Given the description of an element on the screen output the (x, y) to click on. 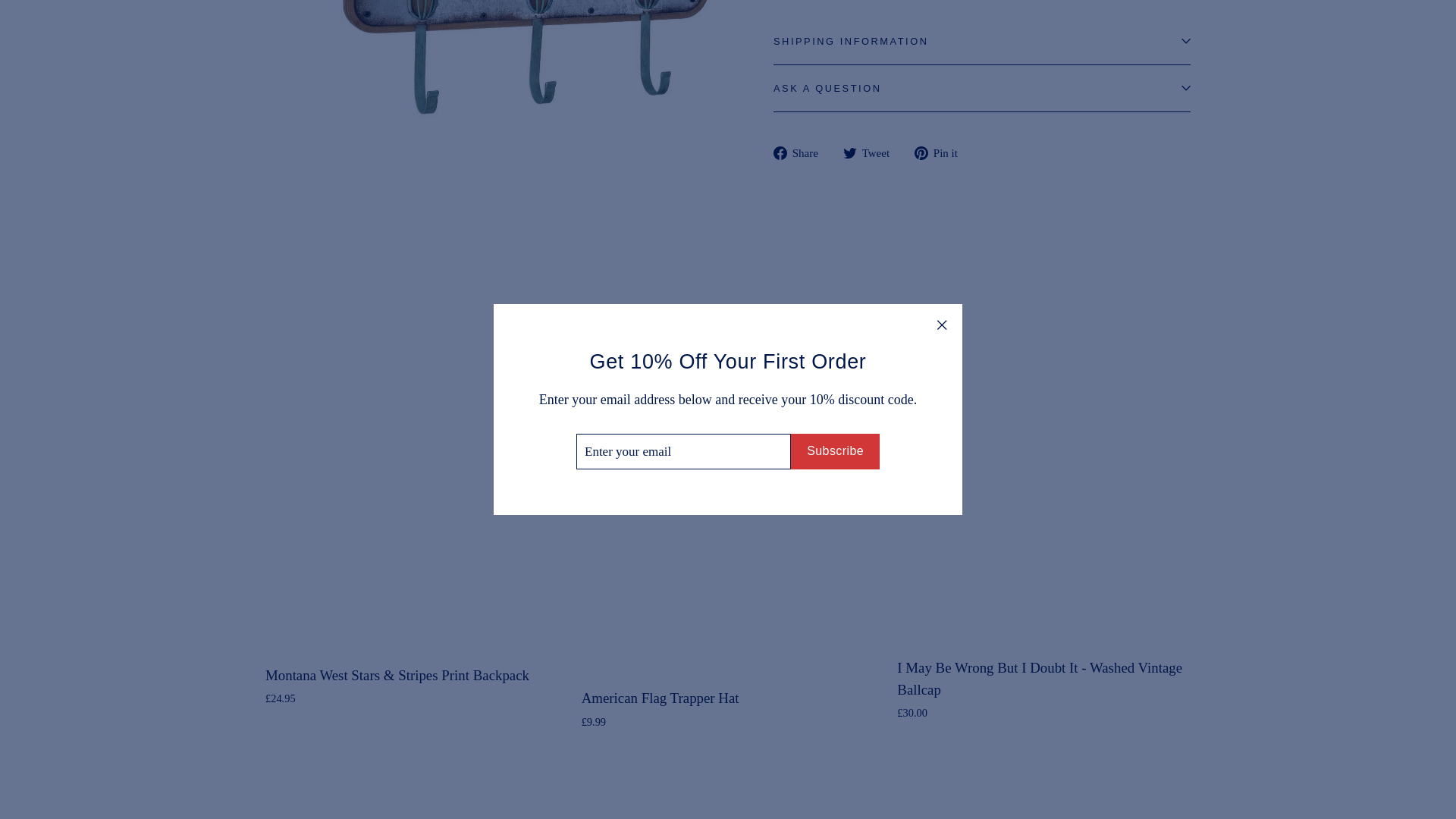
twitter (850, 152)
Tweet on Twitter (872, 152)
